Given the description of an element on the screen output the (x, y) to click on. 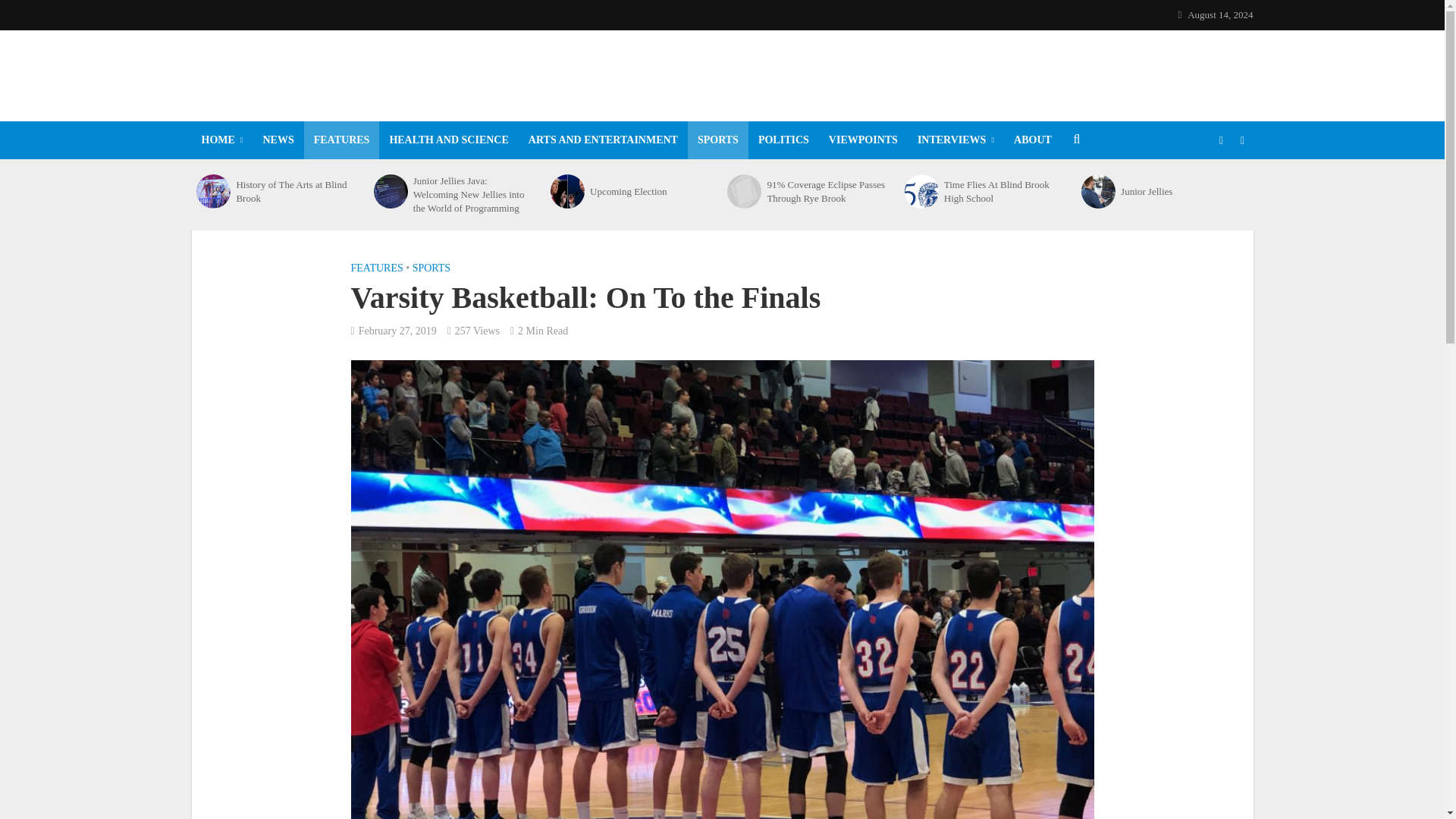
HOME (220, 139)
HEALTH AND SCIENCE (448, 139)
ABOUT (1032, 139)
POLITICS (783, 139)
Time Flies At Blind Brook High School (1003, 190)
VIEWPOINTS (862, 139)
INTERVIEWS (955, 139)
SPORTS (717, 139)
Junior Jellies (1098, 191)
